Given the description of an element on the screen output the (x, y) to click on. 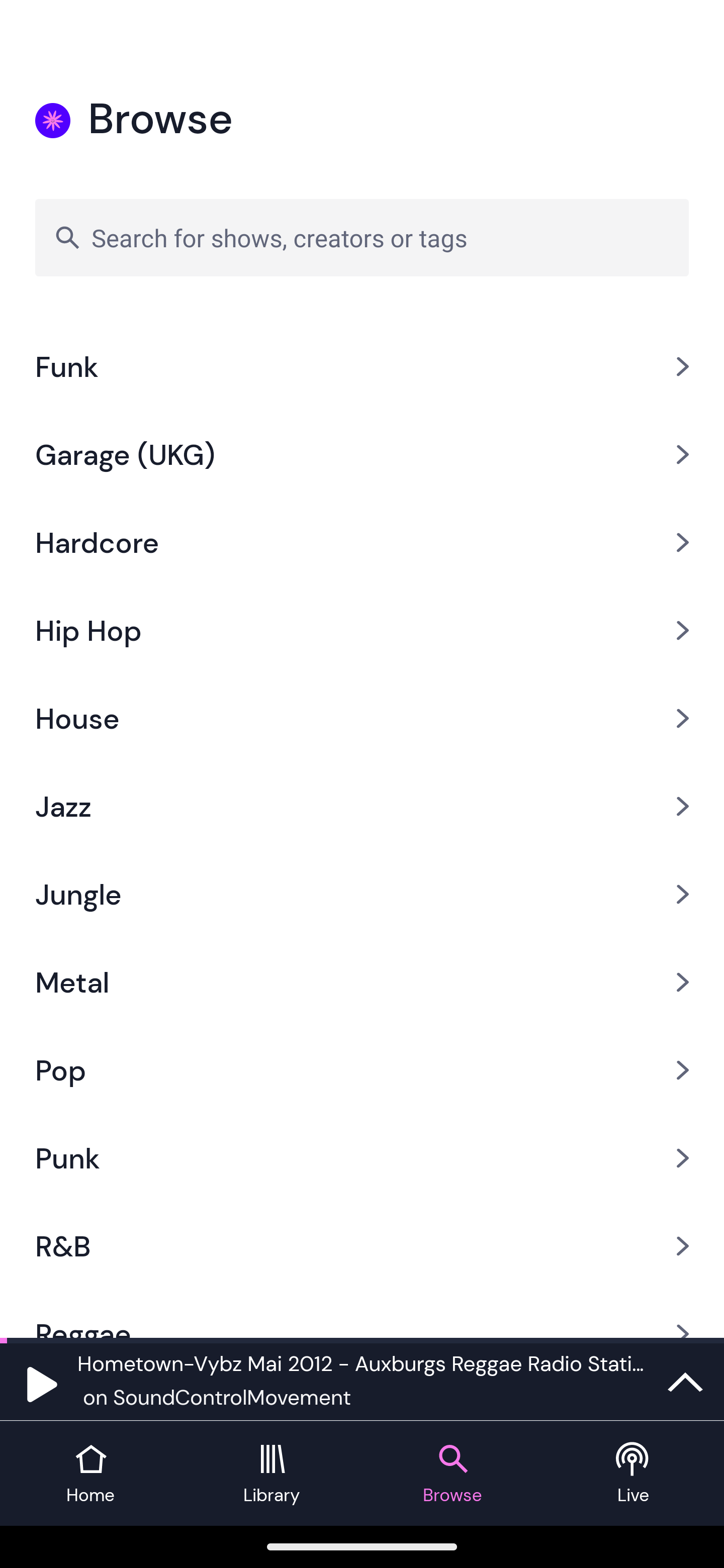
Search for shows, creators or tags (361, 237)
Funk (361, 366)
Garage (UKG) (361, 454)
Hardcore (361, 542)
Hip Hop (361, 630)
House (361, 718)
Jazz (361, 805)
Jungle (361, 893)
Metal (361, 981)
Pop (361, 1069)
Punk (361, 1158)
R&B (361, 1246)
Home tab Home (90, 1473)
Library tab Library (271, 1473)
Browse tab Browse (452, 1473)
Live tab Live (633, 1473)
